Given the description of an element on the screen output the (x, y) to click on. 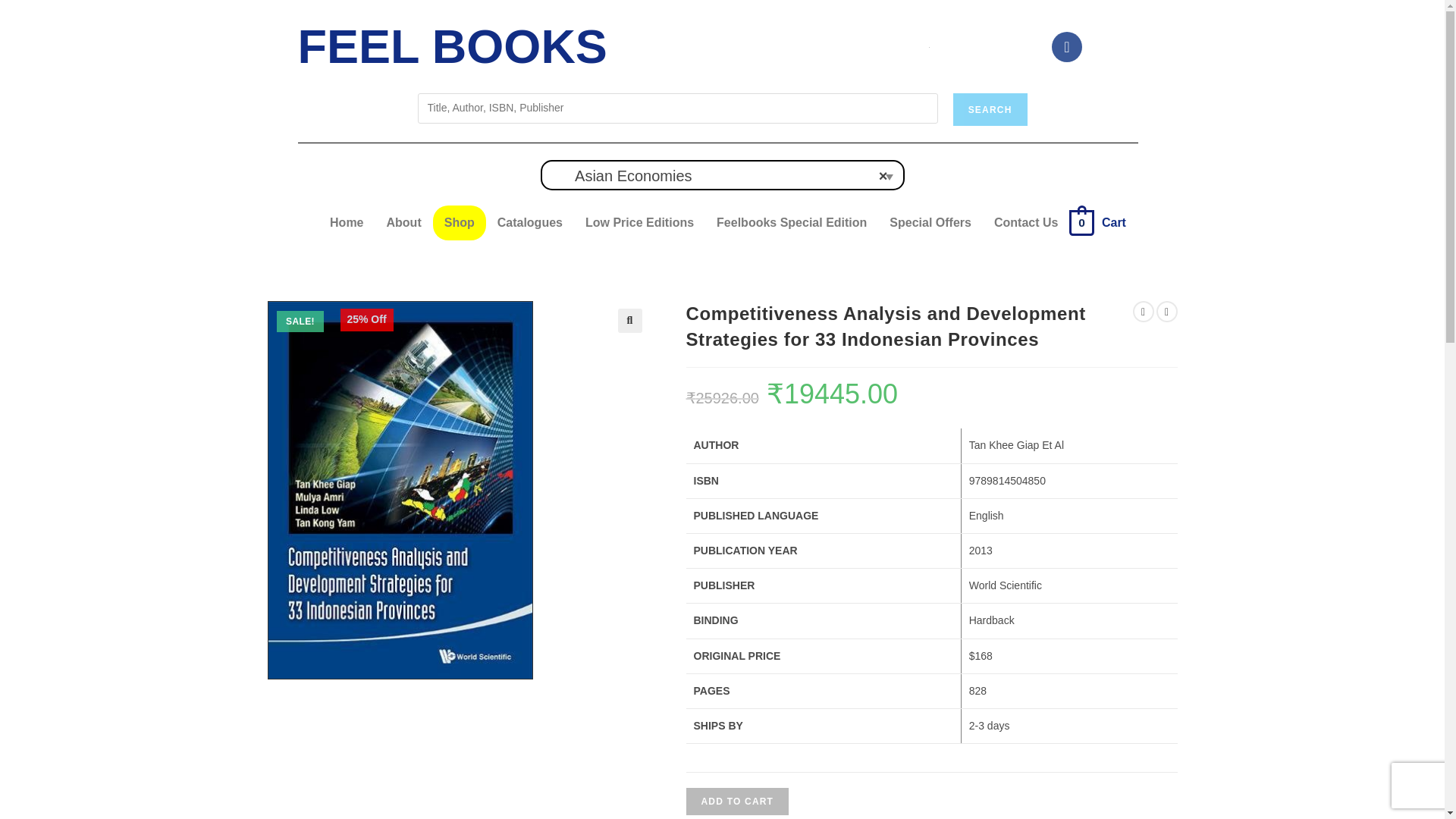
View your shopping cart (1081, 222)
Search (990, 109)
6701 (1104, 24)
Home (346, 222)
About (403, 222)
Feelbooks Special Edition (790, 222)
0 (1081, 222)
FEEL BOOKS (452, 45)
Shop (459, 222)
